Given the description of an element on the screen output the (x, y) to click on. 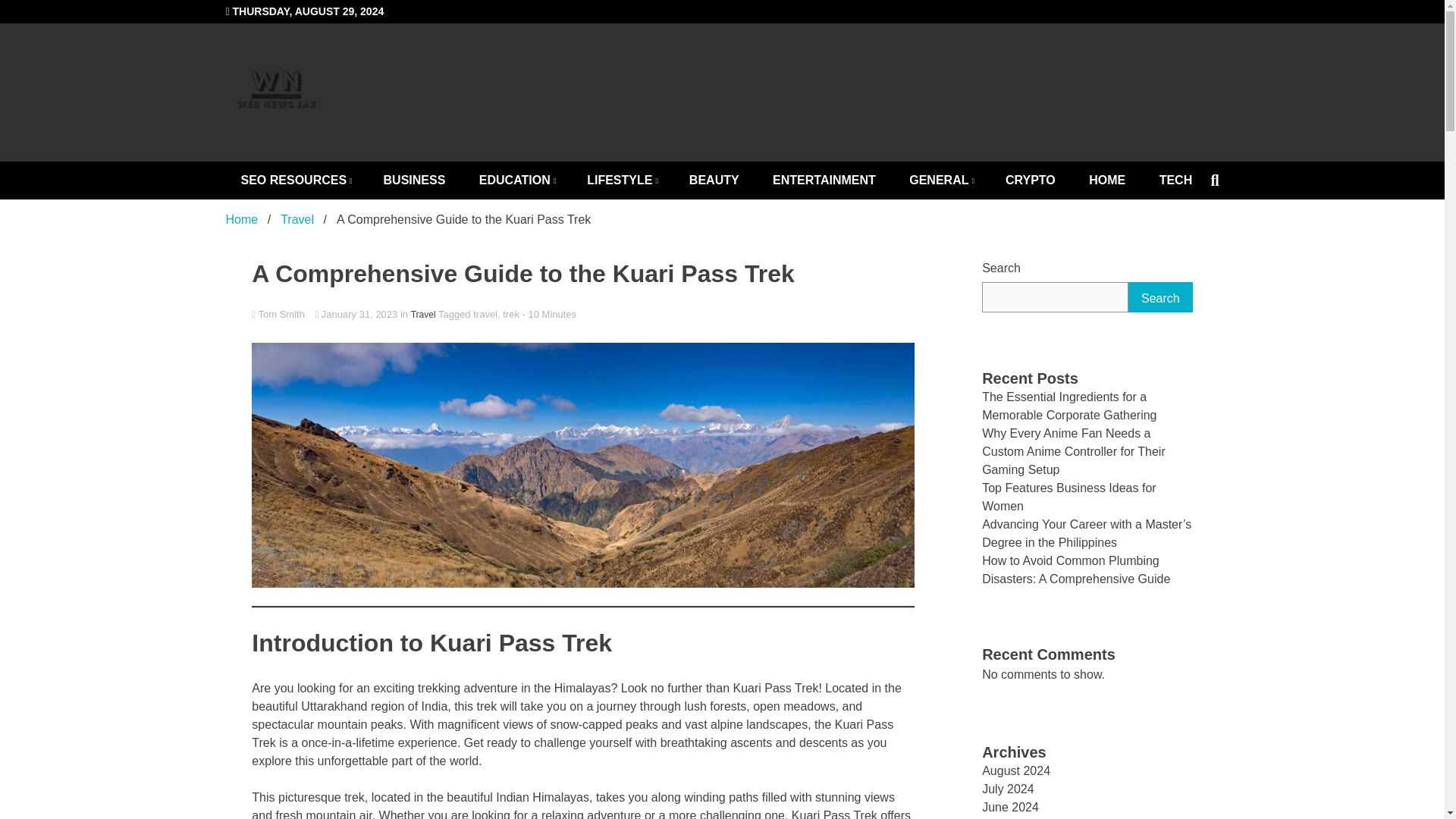
Webnewsjax (378, 159)
LIFESTYLE (620, 180)
CRYPTO (1030, 180)
Estimated Reading Time of Article (549, 314)
ENTERTAINMENT (824, 180)
BEAUTY (714, 180)
January 31, 2023 (356, 314)
GENERAL (940, 180)
TECH (1176, 180)
EDUCATION (516, 180)
